Given the description of an element on the screen output the (x, y) to click on. 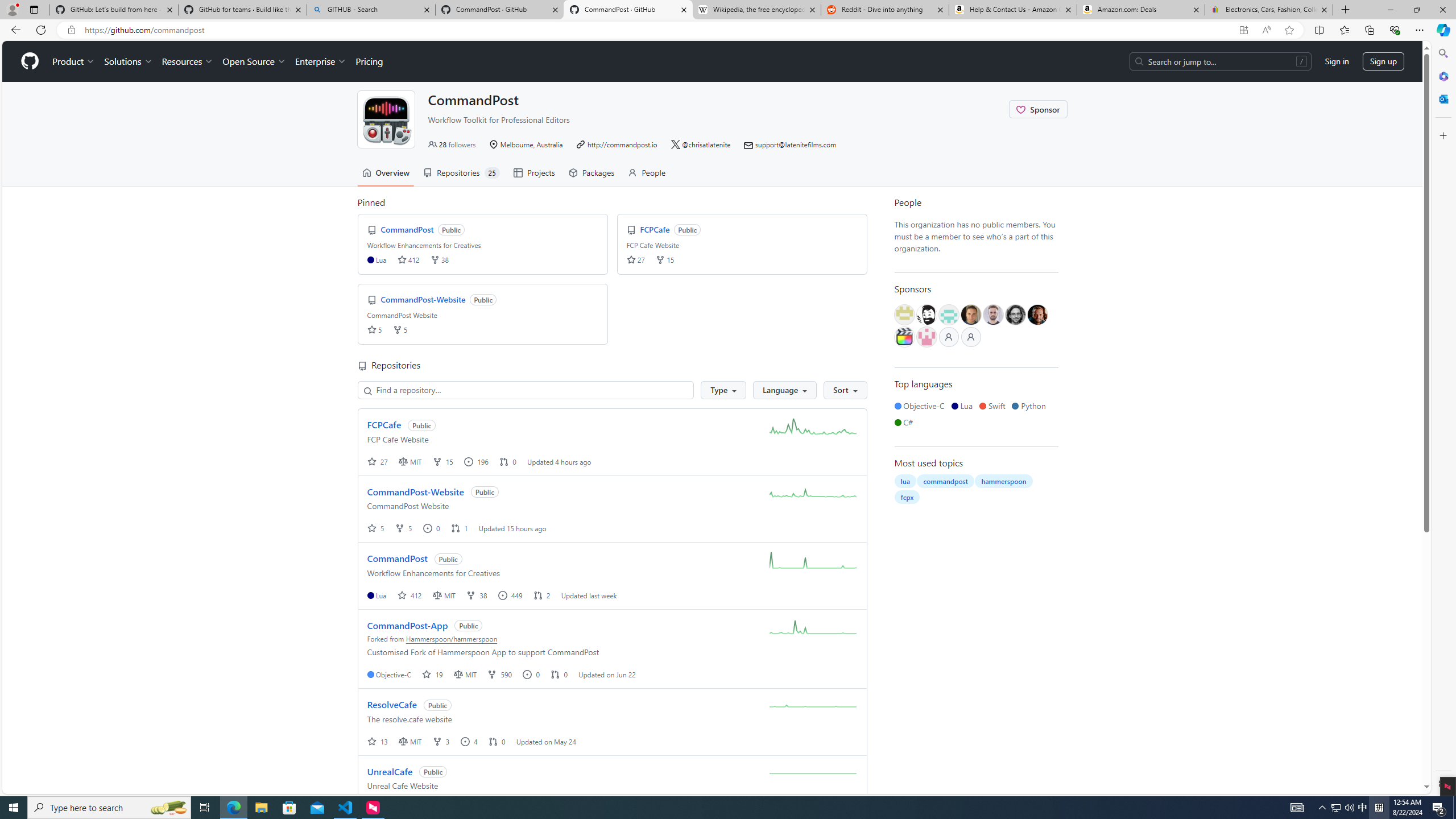
hammerspoon (1003, 481)
28 followers (452, 144)
fork 5  (403, 528)
fork 590  (500, 673)
GITHUB - Search (370, 9)
FCPCafe (383, 424)
Solutions (128, 60)
 196  (477, 461)
Type (723, 389)
Amazon.com: Deals (1140, 9)
 2  (541, 595)
forks 5 (400, 329)
